Given the description of an element on the screen output the (x, y) to click on. 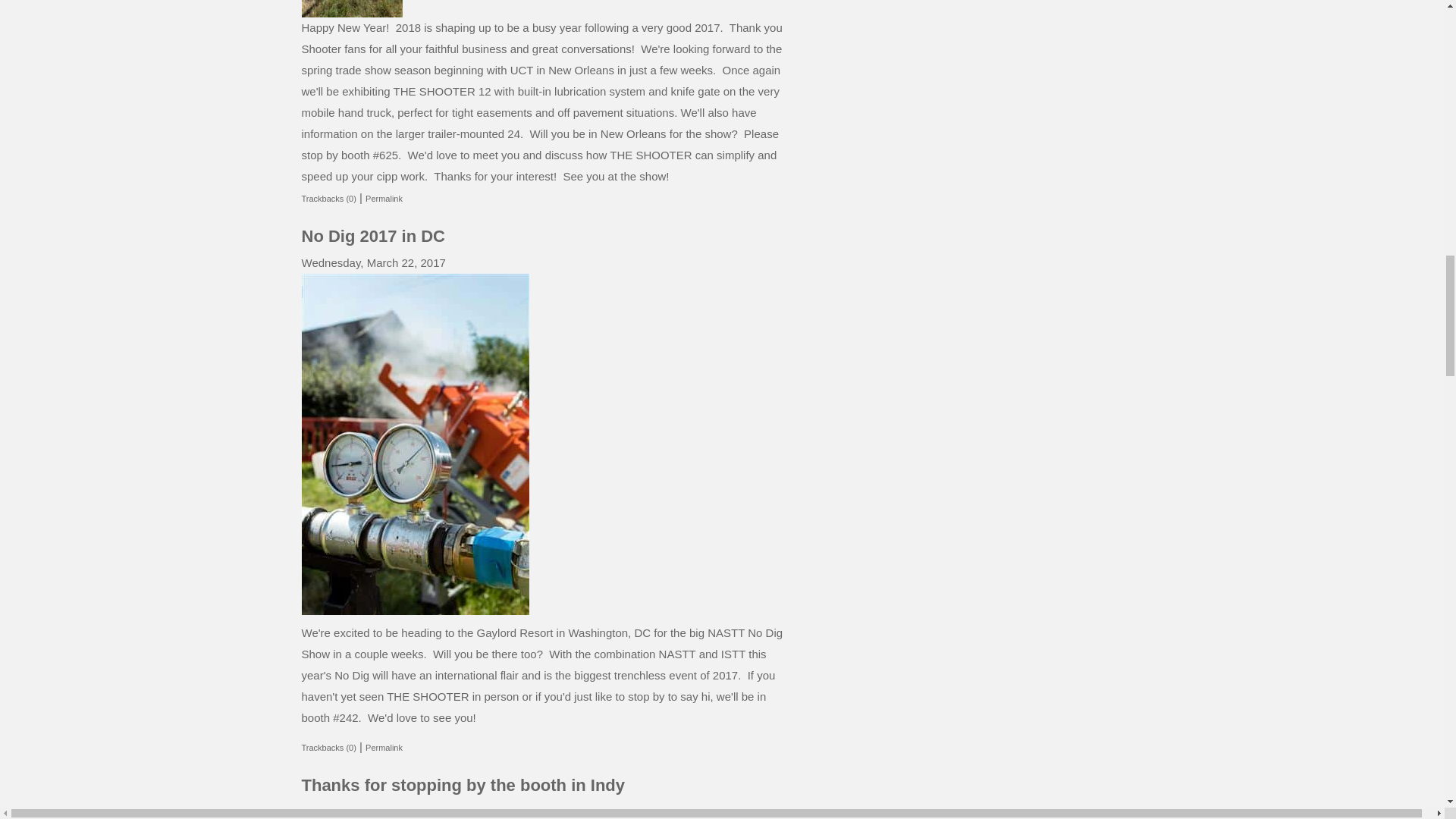
No Dig 2017 in DC (373, 235)
No Dig 2017 in DC (373, 235)
Thanks for stopping by the booth in Indy (463, 784)
Permalink (384, 198)
Permalink (384, 747)
Thanks for stopping by the booth in Indy (463, 784)
